Given the description of an element on the screen output the (x, y) to click on. 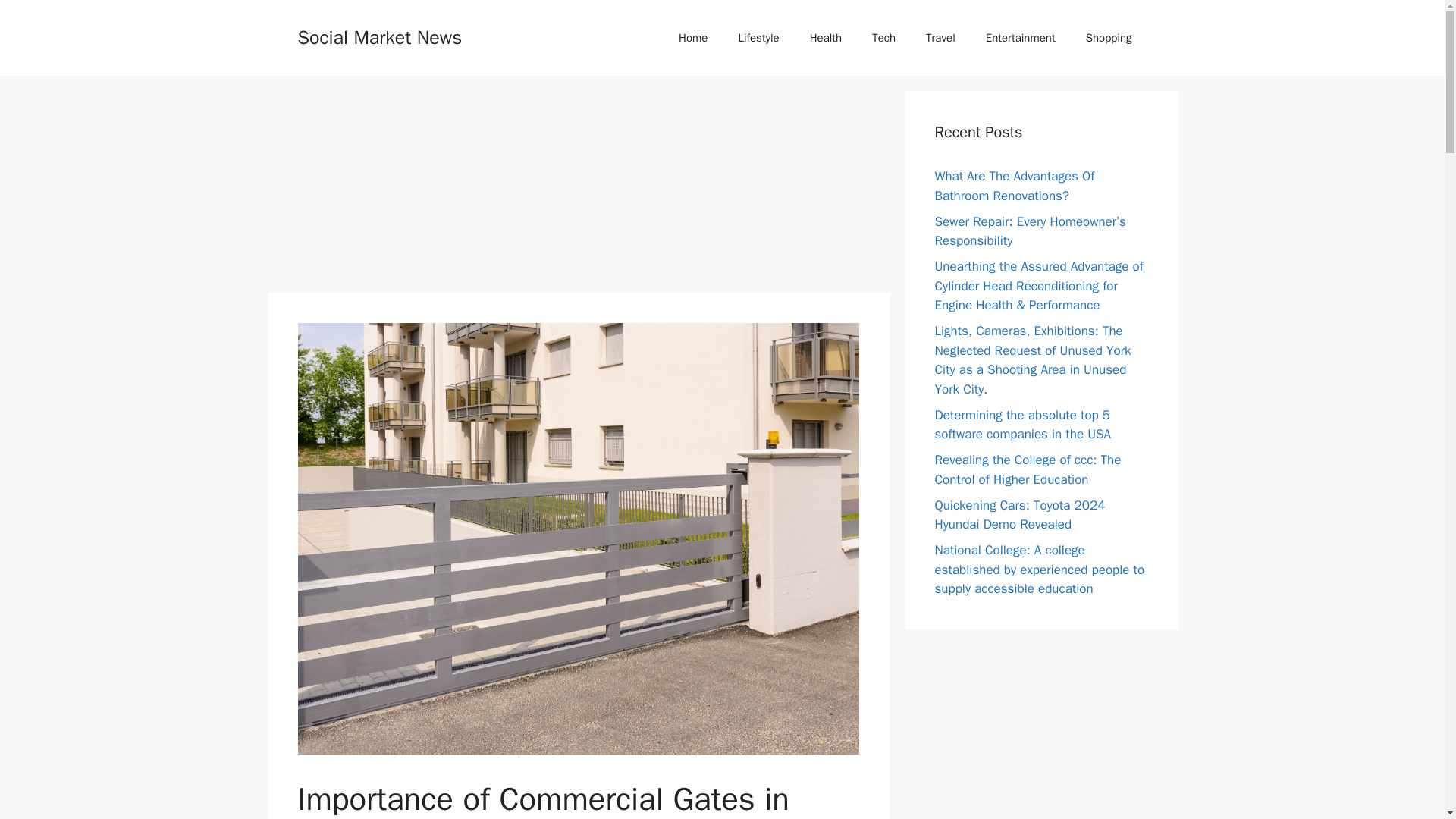
Health (825, 37)
Entertainment (1020, 37)
Determining the absolute top 5 software companies in the USA (1022, 424)
Social Market News (379, 37)
Home (692, 37)
What Are The Advantages Of Bathroom Renovations? (1014, 185)
Travel (941, 37)
Quickening Cars: Toyota 2024 Hyundai Demo Revealed (1019, 515)
Shopping (1108, 37)
Lifestyle (757, 37)
Tech (884, 37)
